Given the description of an element on the screen output the (x, y) to click on. 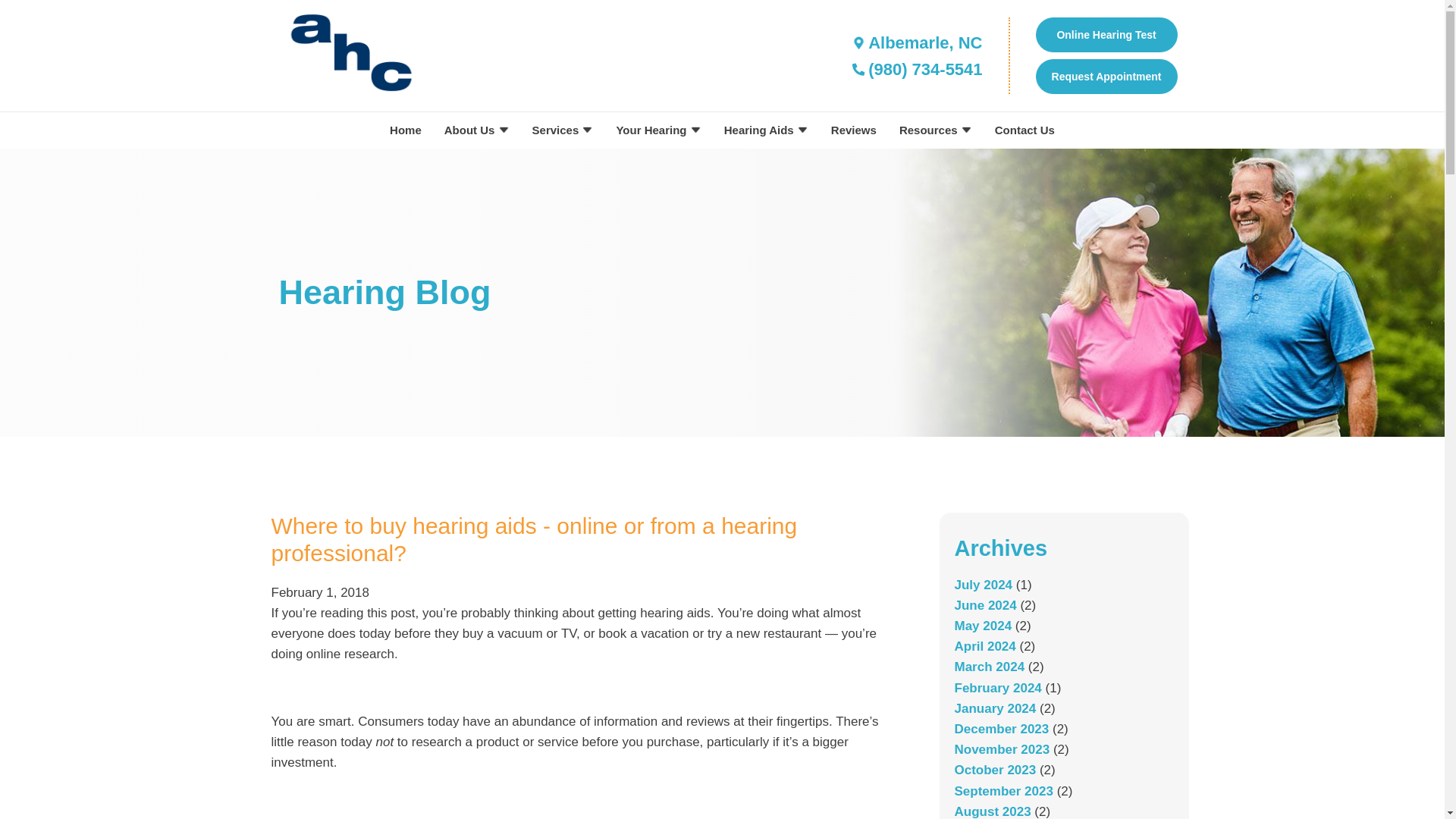
Reviews (853, 130)
Your Hearing (657, 130)
Albemarle, NC (914, 41)
Services (563, 130)
Hearing Aids (766, 130)
Online Hearing Test (1106, 34)
Request Appointment (1106, 76)
About Us (476, 130)
Home (405, 130)
